Given the description of an element on the screen output the (x, y) to click on. 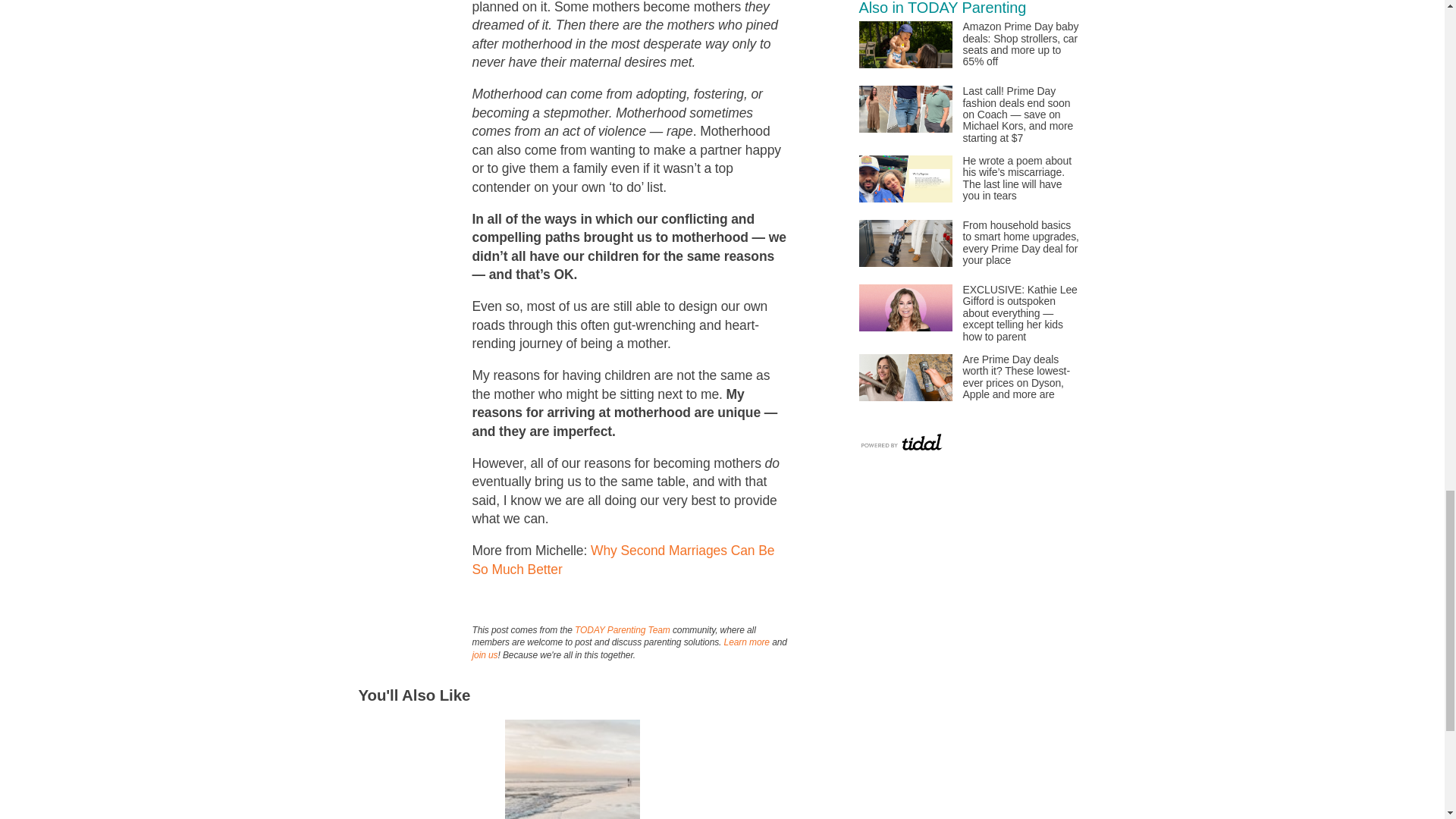
TODAY Parenting Team (622, 629)
Learn more (746, 642)
join us (484, 655)
Why Second Marriages Can Be So Much Better (622, 559)
